Given the description of an element on the screen output the (x, y) to click on. 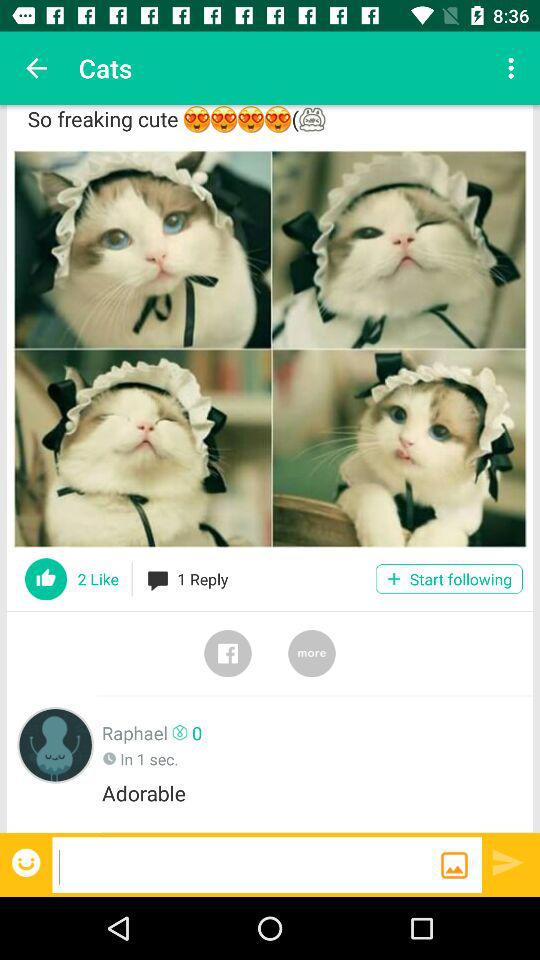
launch the item to the right of cats item (513, 67)
